Given the description of an element on the screen output the (x, y) to click on. 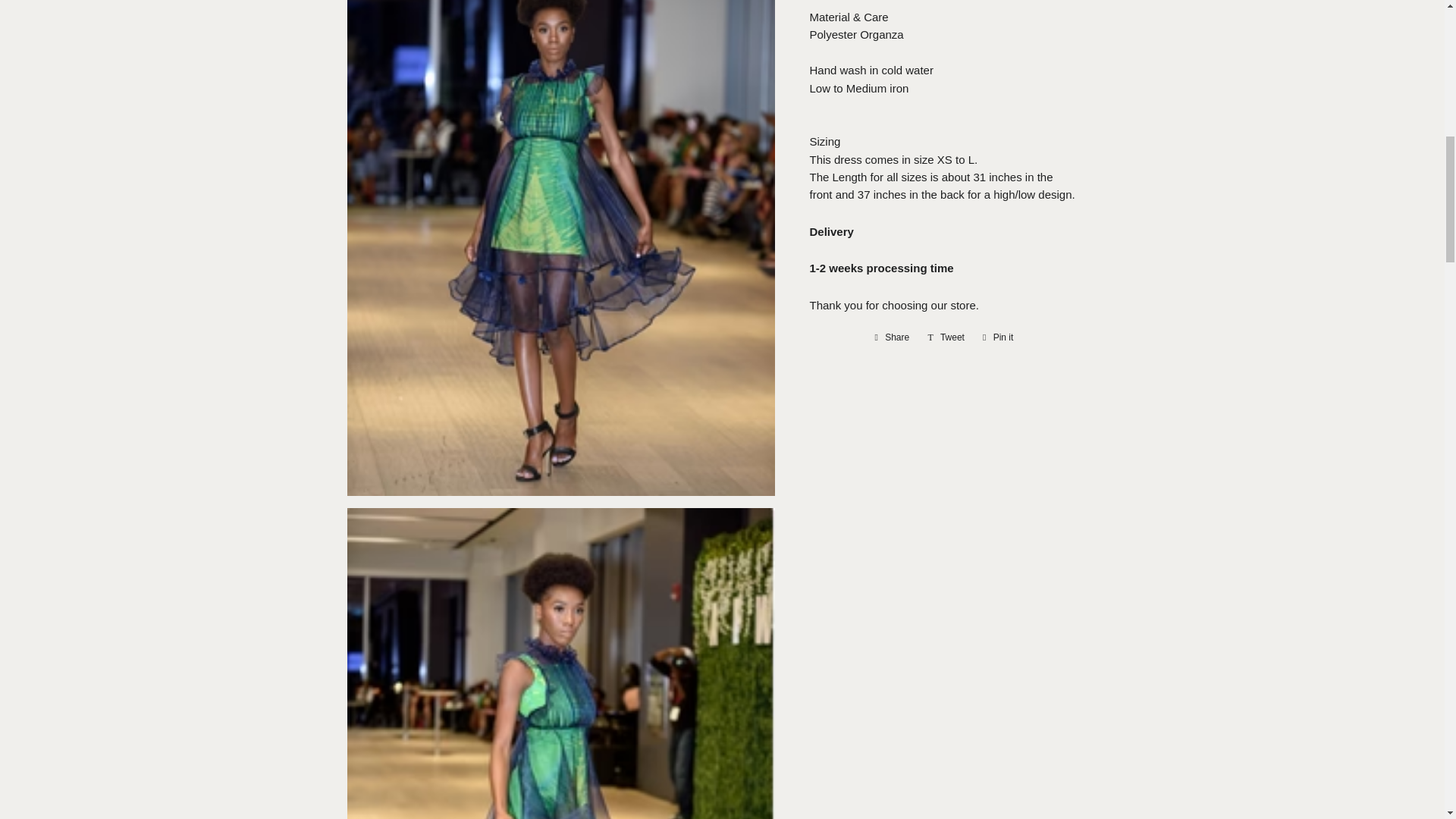
Share on Facebook (997, 337)
Pin on Pinterest (892, 337)
Tweet on Twitter (946, 337)
